Given the description of an element on the screen output the (x, y) to click on. 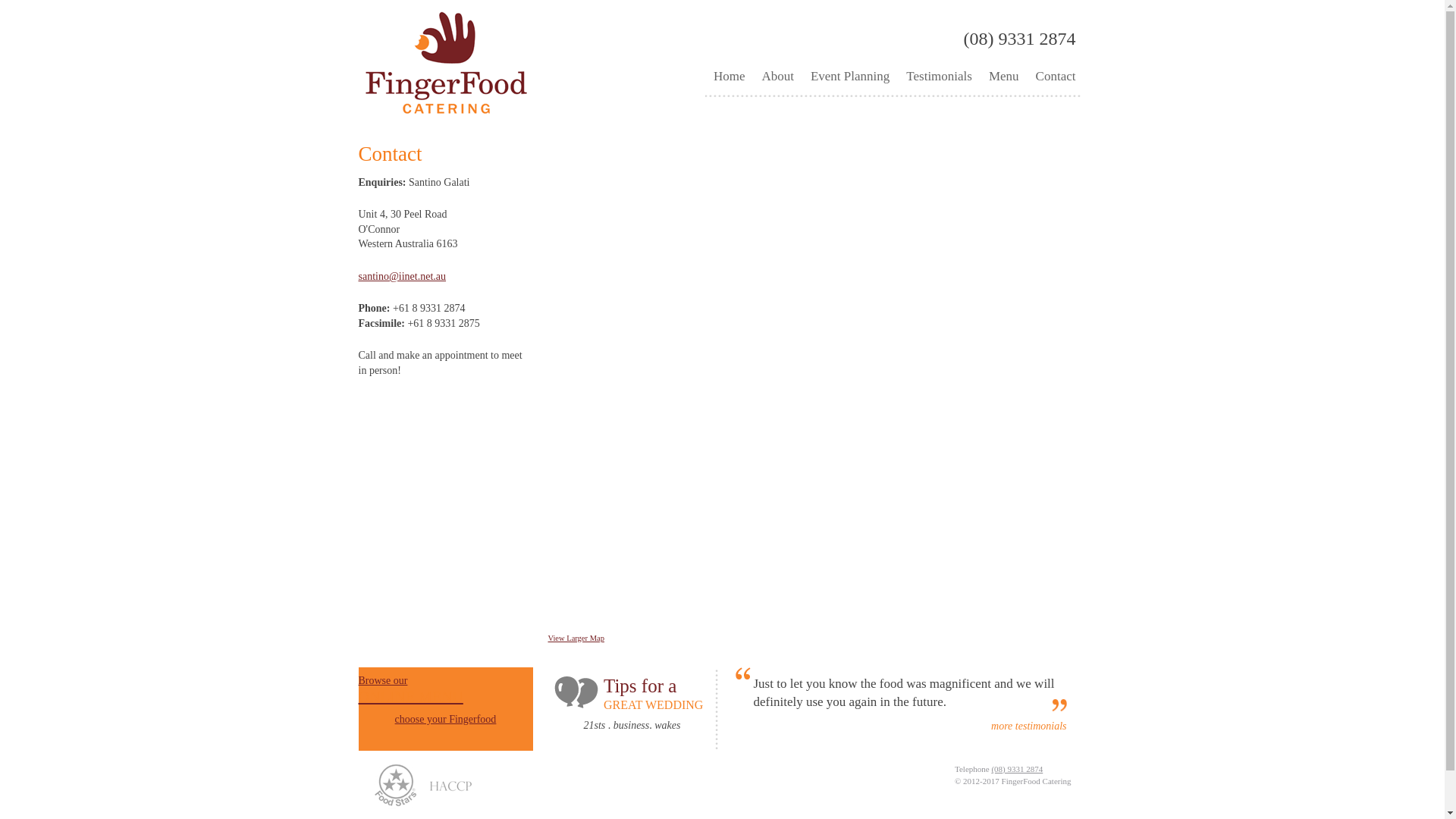
Contact Element type: text (1055, 76)
Menu Element type: text (1003, 76)
santino@iinet.net.au Element type: text (401, 276)
(08) 9331 2874 Element type: text (1016, 768)
wakes Element type: text (667, 725)
choose your Fingerfood Element type: text (445, 718)
Event Planning Element type: text (849, 76)
Testimonials Element type: text (938, 76)
Home Element type: text (729, 76)
more testimonials Element type: text (1028, 725)
About Element type: text (777, 76)
View Larger Map Element type: text (575, 637)
business Element type: text (631, 725)
Browse our
ONLINE MENU Element type: text (444, 690)
21sts Element type: text (594, 725)
